Given the description of an element on the screen output the (x, y) to click on. 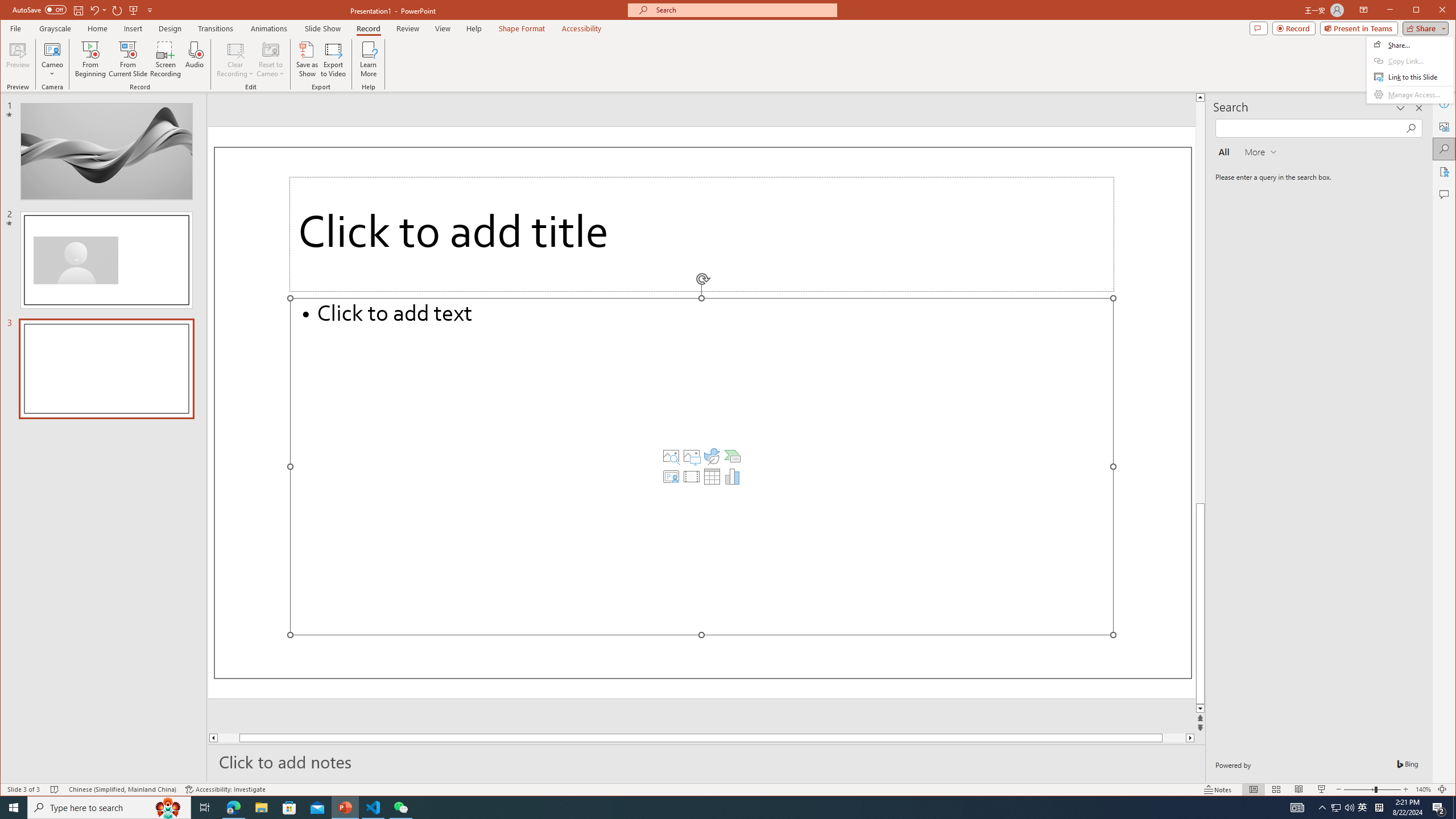
Insert an Icon (711, 456)
Insert Video (691, 476)
